Given the description of an element on the screen output the (x, y) to click on. 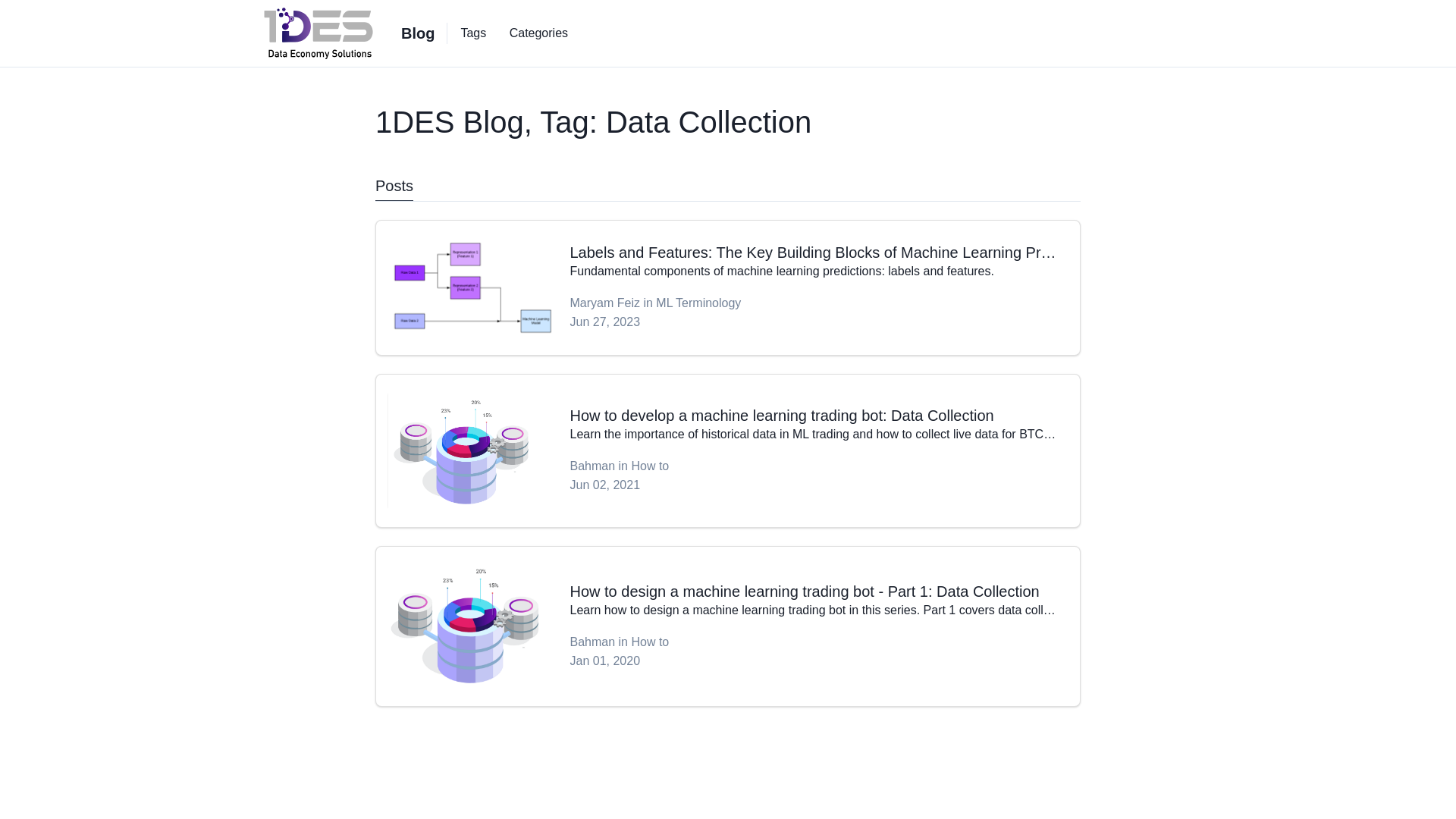
Categories Element type: text (538, 32)
Tags Element type: text (472, 32)
Blog Element type: text (417, 33)
